Given the description of an element on the screen output the (x, y) to click on. 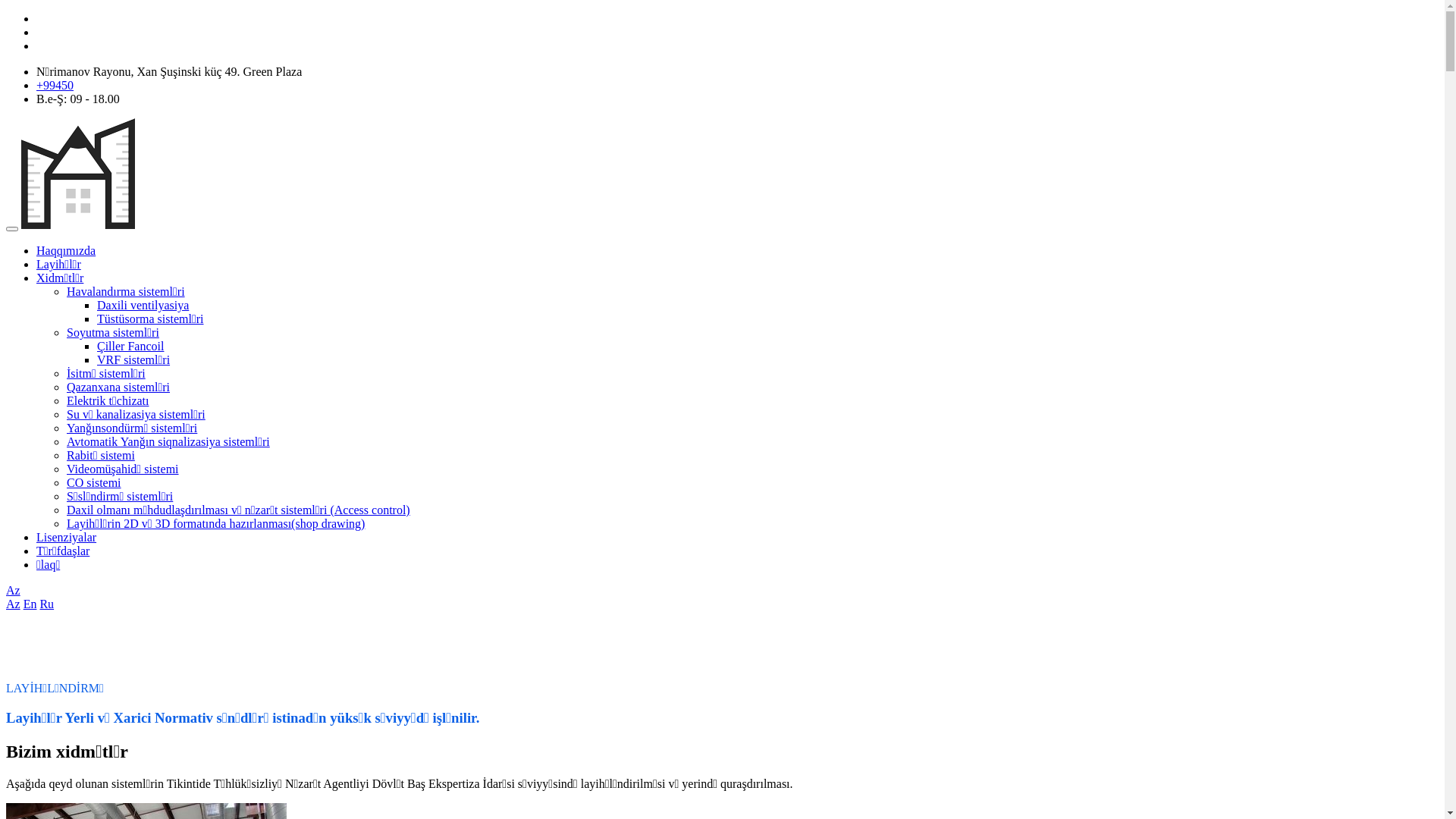
Az Element type: text (13, 589)
CO sistemi Element type: text (93, 482)
Az Element type: text (13, 603)
Daxili ventilyasiya Element type: text (142, 304)
Lisenziyalar Element type: text (66, 536)
En Element type: text (30, 603)
Ru Element type: text (46, 603)
+99450 Element type: text (54, 84)
